Given the description of an element on the screen output the (x, y) to click on. 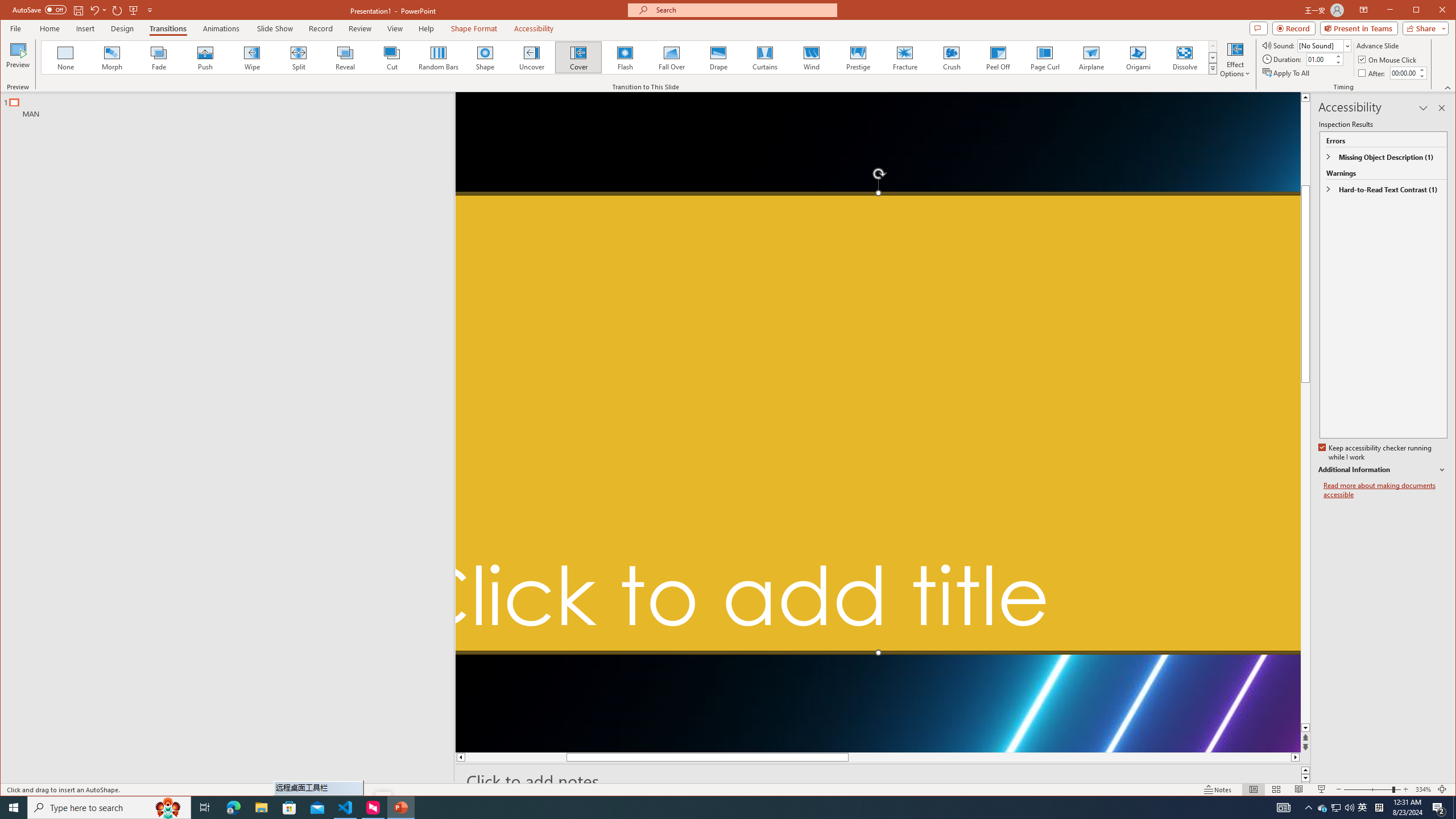
Running applications (700, 807)
Drape (717, 57)
Outline (231, 104)
Peel Off (998, 57)
Less (1421, 75)
On Mouse Click (1387, 59)
Apply To All (1286, 72)
Origami (1138, 57)
